Given the description of an element on the screen output the (x, y) to click on. 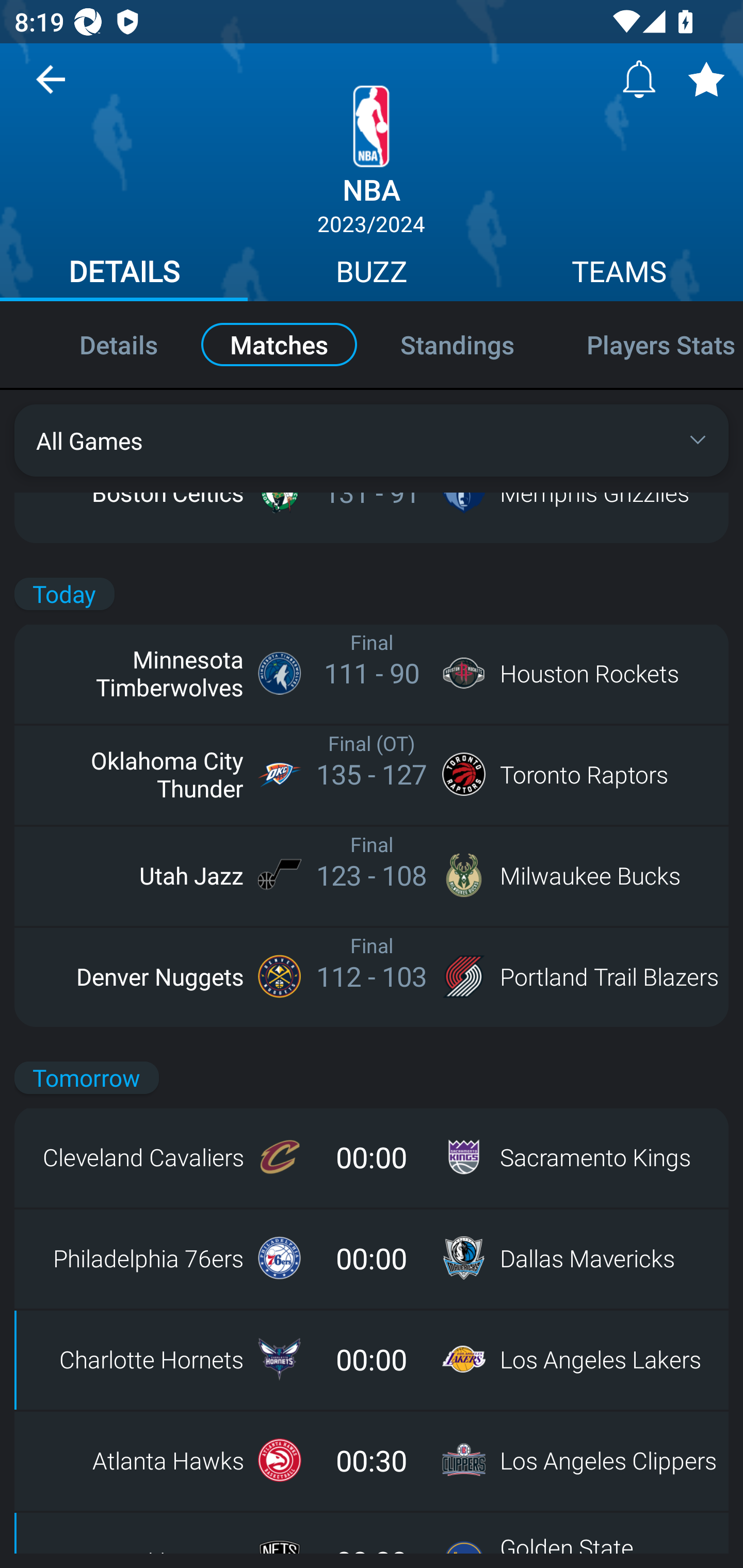
Navigate up (50, 86)
DETAILS (123, 274)
BUZZ (371, 274)
TEAMS (619, 274)
Details (96, 344)
Standings (457, 344)
Players Stats (646, 344)
All Games (371, 440)
Utah Jazz Final 123 - 108 Milwaukee Bucks (371, 874)
Cleveland Cavaliers 00:00 Sacramento Kings (371, 1157)
Philadelphia 76ers 00:00 Dallas Mavericks (371, 1258)
Charlotte Hornets 00:00 Los Angeles Lakers (371, 1359)
Atlanta Hawks 00:30 Los Angeles Clippers (371, 1459)
